Given the description of an element on the screen output the (x, y) to click on. 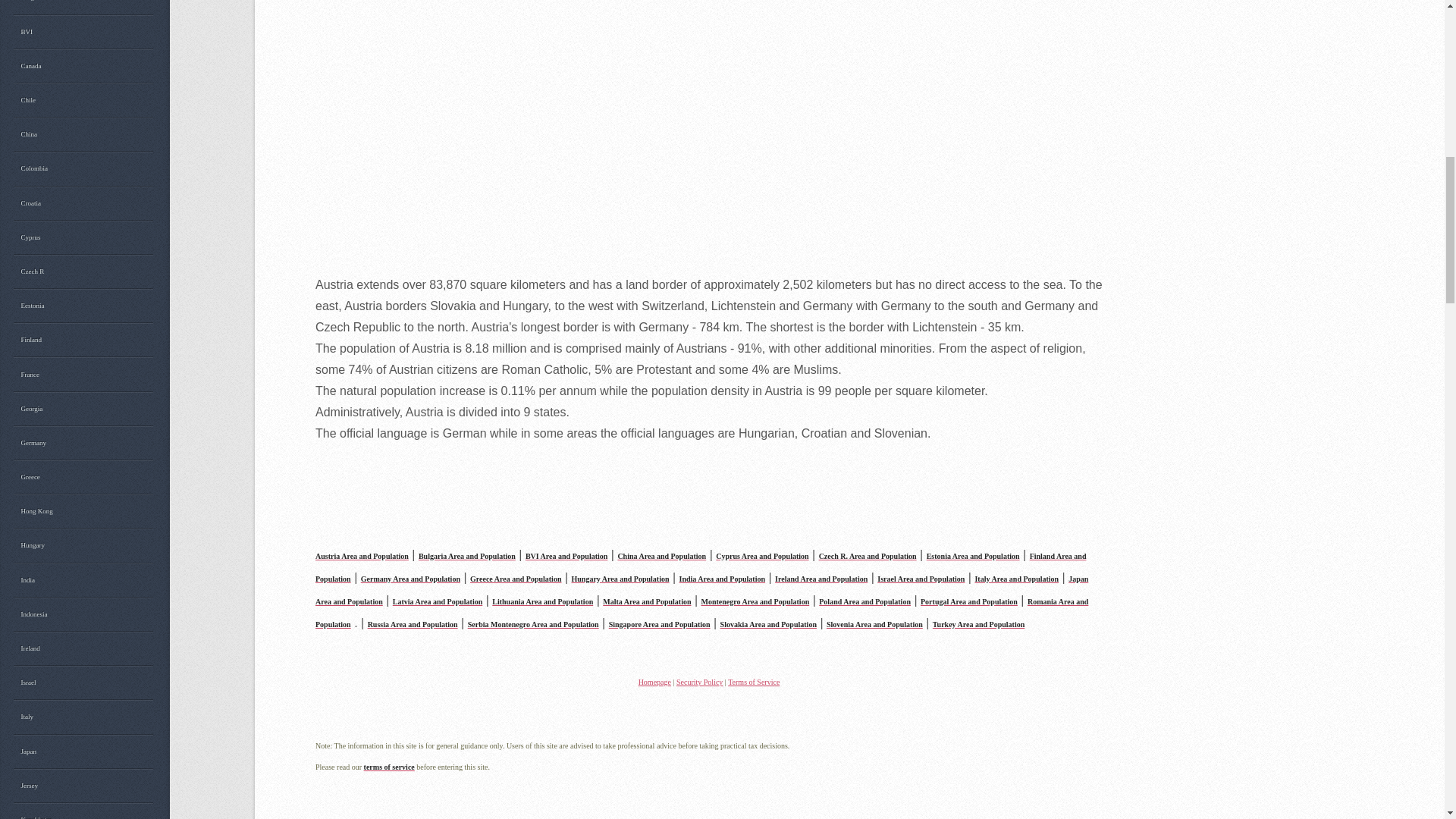
Homepage (655, 682)
India Population and territory figures (722, 576)
Japan Population and territory figures (701, 588)
Austria Population and territory figures (362, 554)
Czech R. Area and Population (867, 554)
Serbia Montenegro Area and Population (532, 622)
Terms of Service (753, 682)
Greece Area and Population (515, 576)
Turkey Area and Population (979, 622)
Security Policy (699, 682)
